Given the description of an element on the screen output the (x, y) to click on. 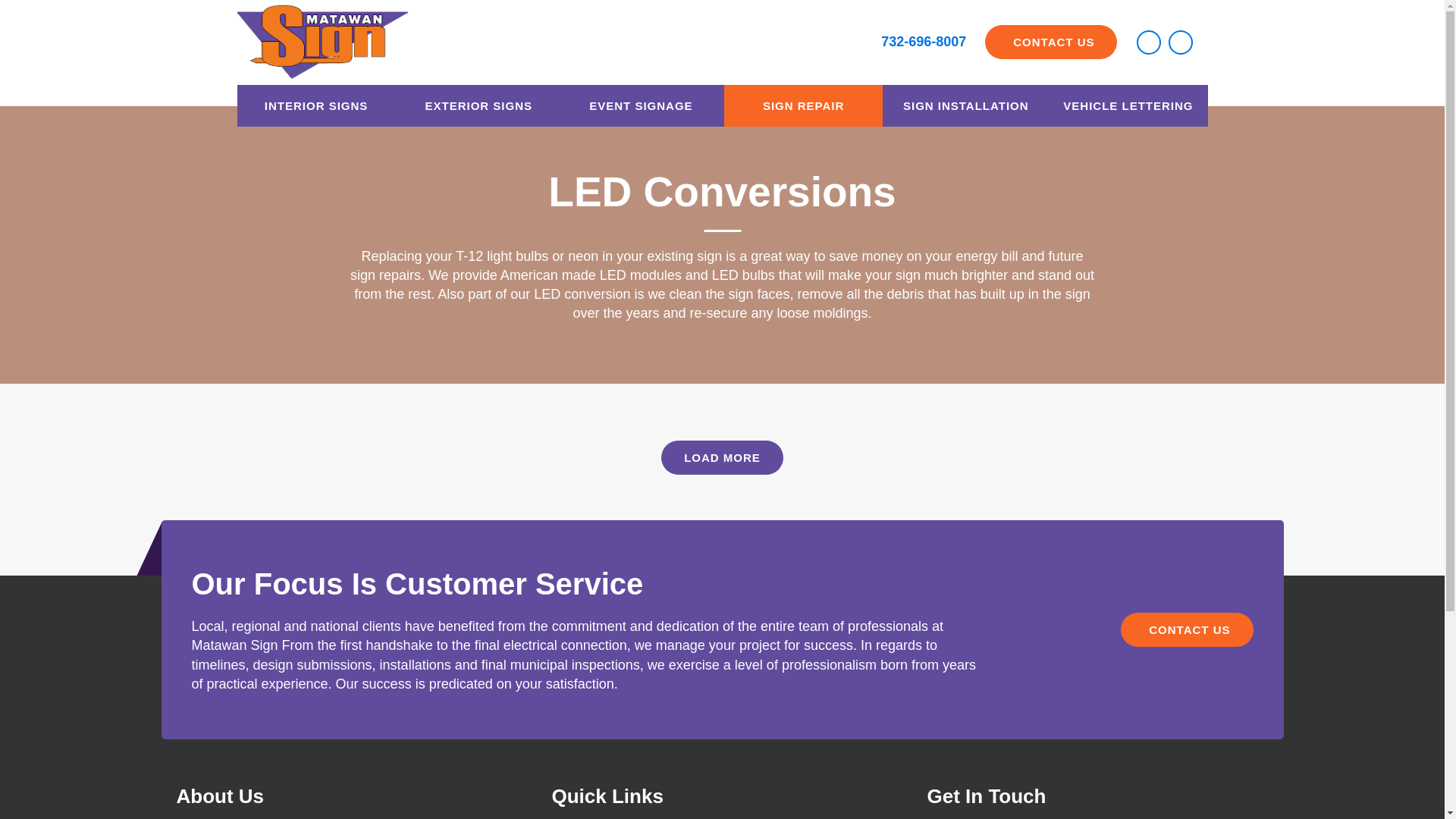
732-696-8007 (923, 41)
INTERIOR SIGNS (314, 105)
CONTACT US (1050, 41)
SIGN REPAIR (802, 105)
EXTERIOR SIGNS (477, 105)
VEHICLE LETTERING (1127, 105)
SIGN INSTALLATION (965, 105)
EVENT SIGNAGE (641, 105)
